Given the description of an element on the screen output the (x, y) to click on. 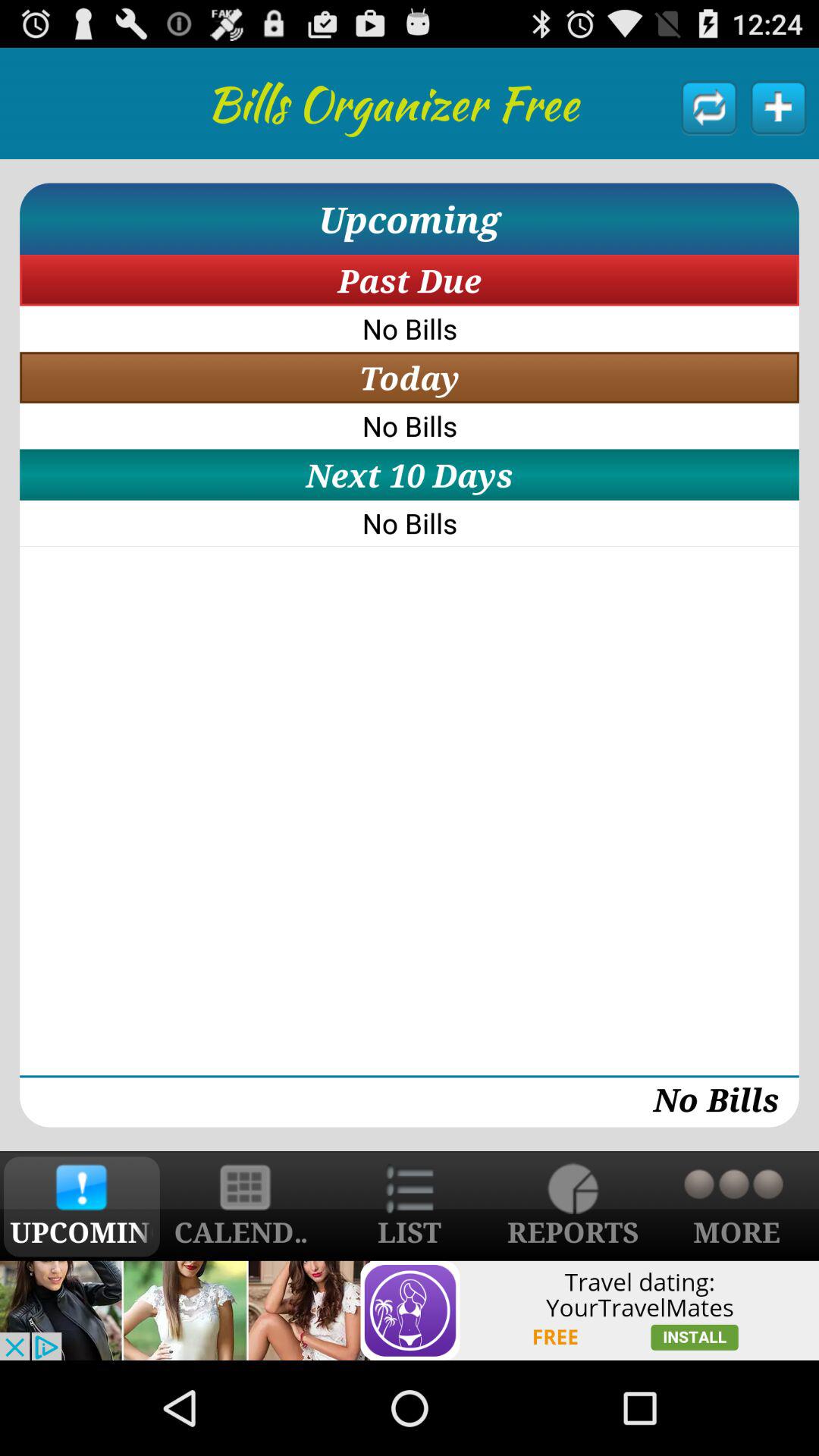
add new bill (778, 107)
